Given the description of an element on the screen output the (x, y) to click on. 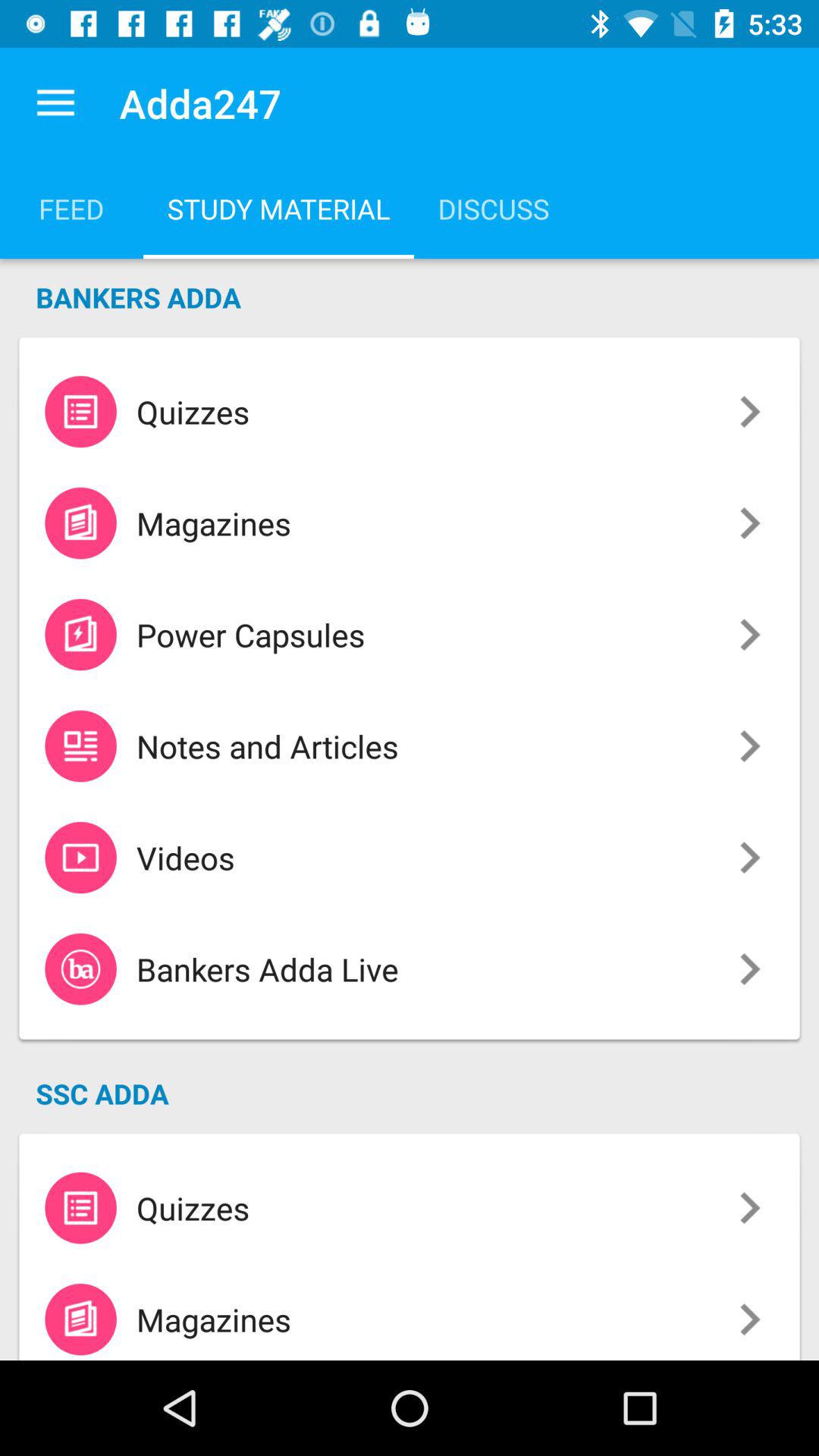
choose the app next to the adda247 item (55, 103)
